Given the description of an element on the screen output the (x, y) to click on. 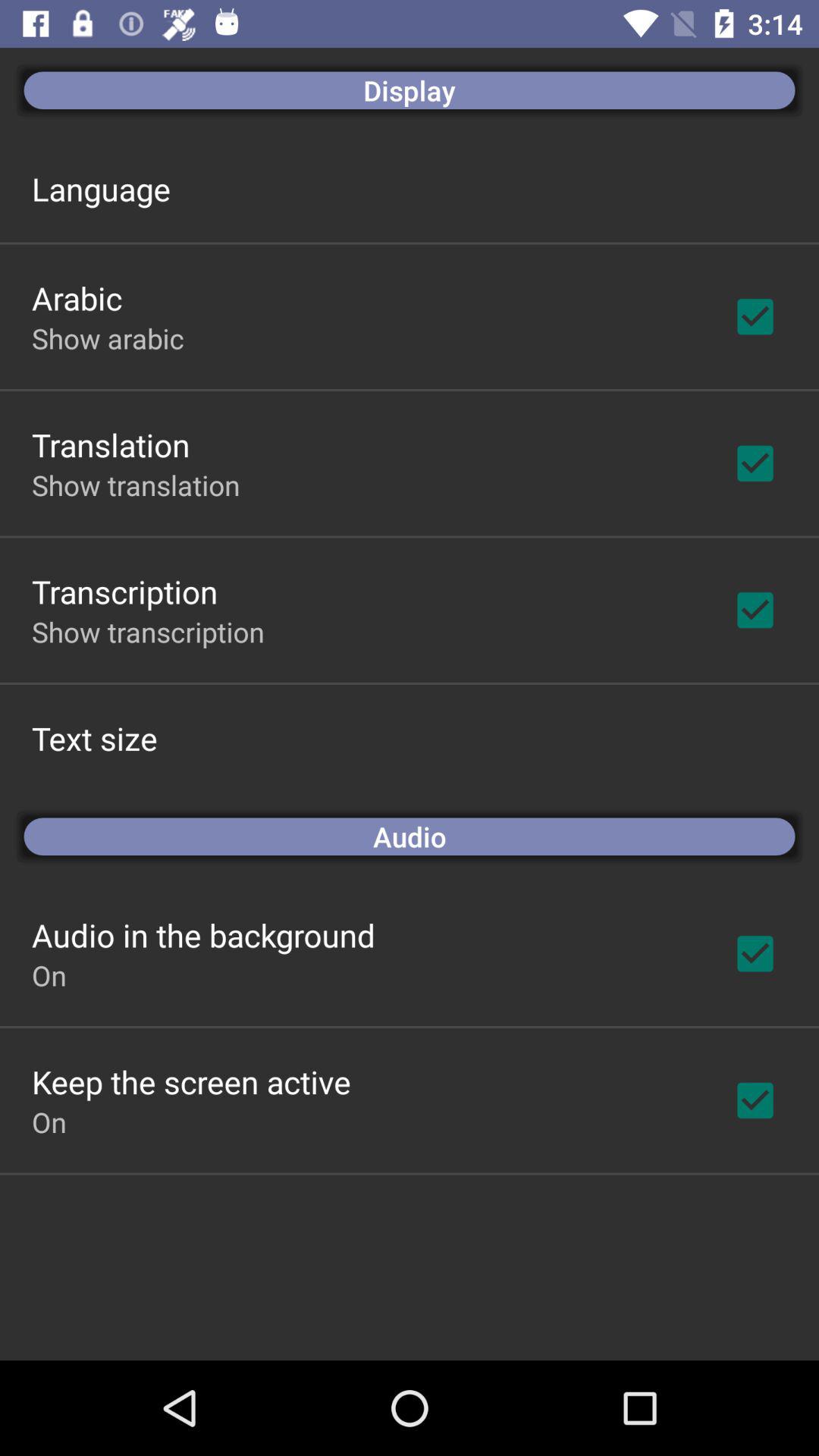
choose the show arabic icon (107, 338)
